Given the description of an element on the screen output the (x, y) to click on. 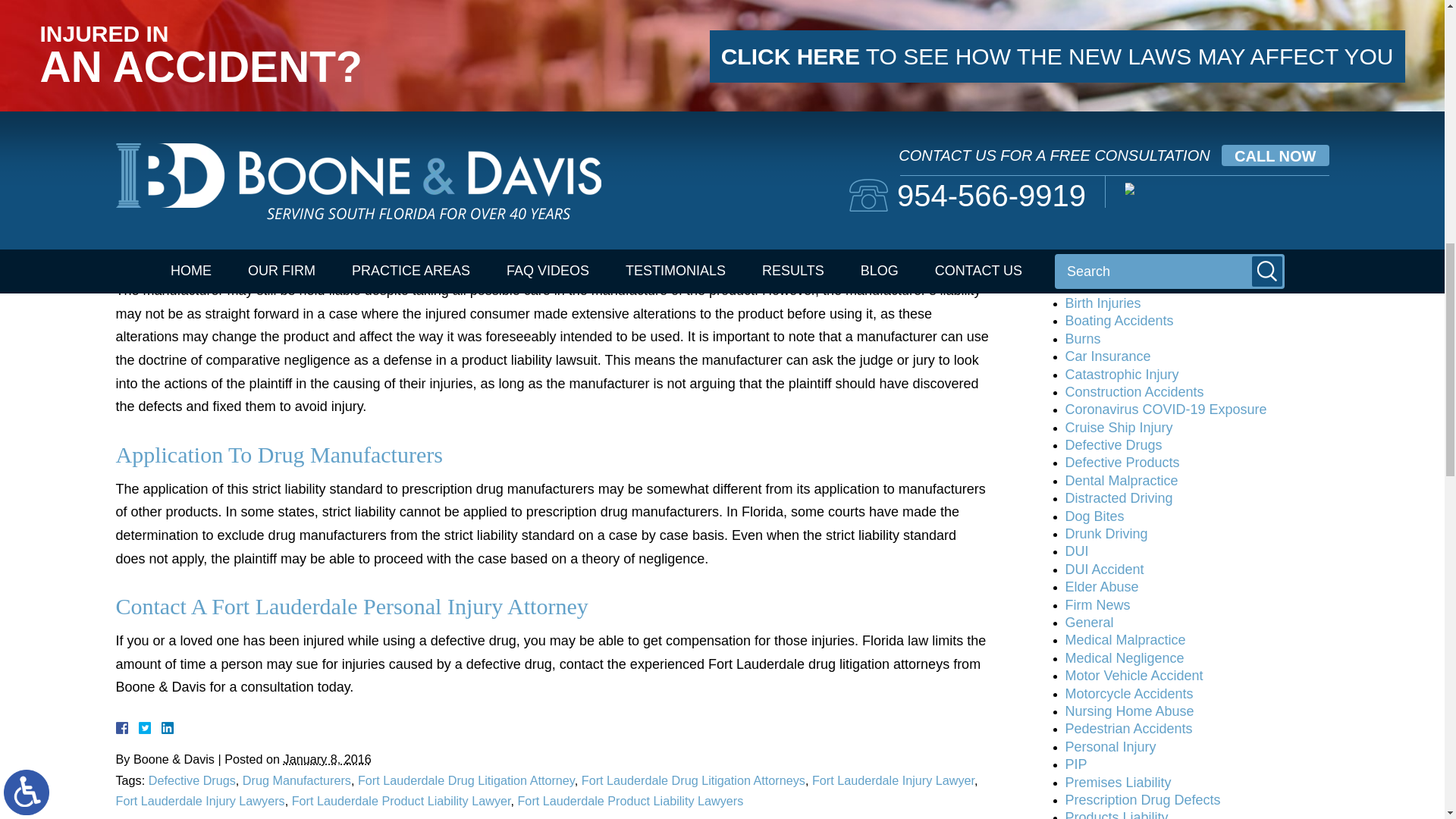
Twitter (149, 727)
2016-01-08T09:50:31-0800 (327, 758)
Facebook (139, 727)
LinkedIn (160, 727)
